Given the description of an element on the screen output the (x, y) to click on. 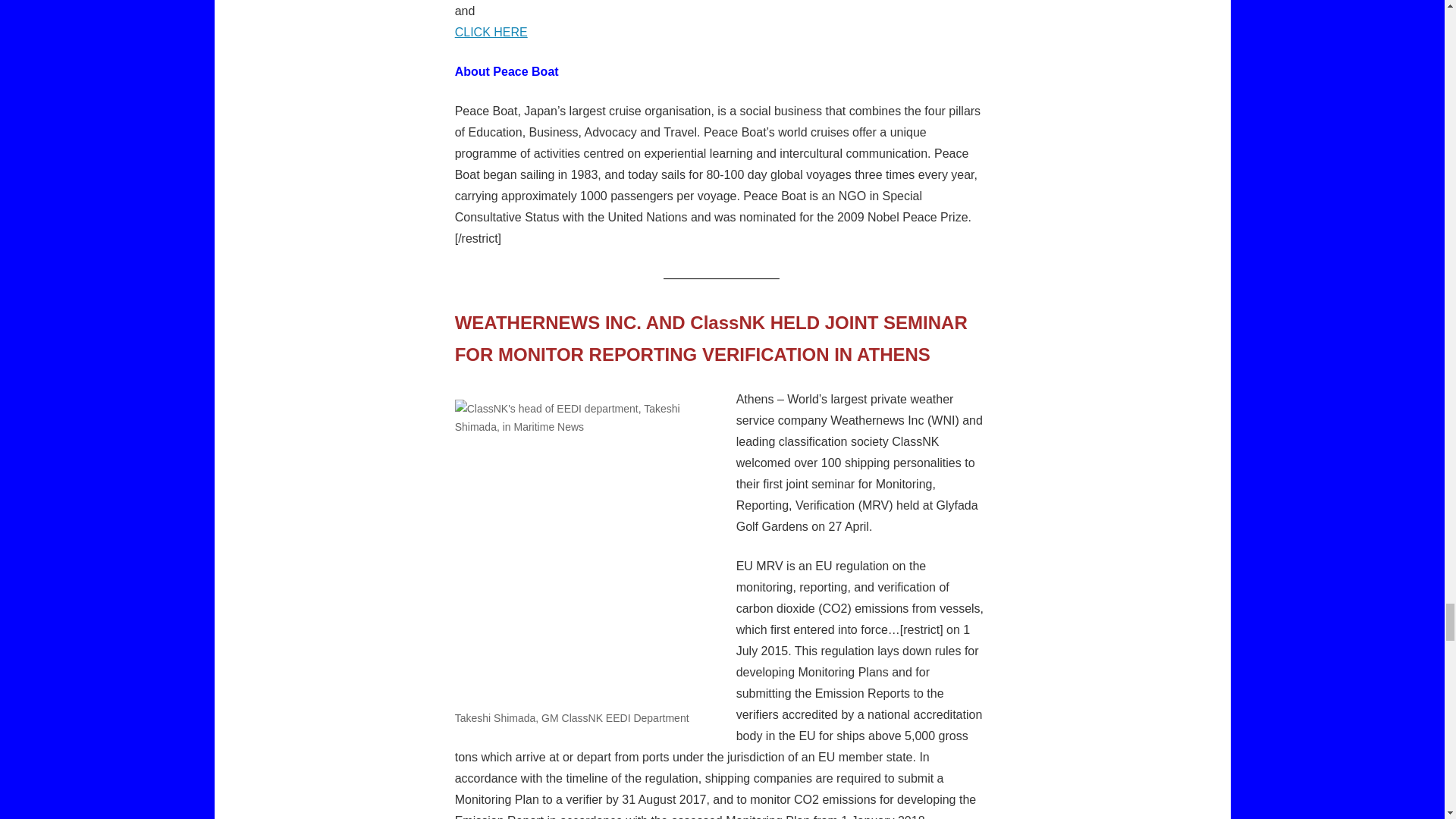
CLICK HERE (490, 31)
